Given the description of an element on the screen output the (x, y) to click on. 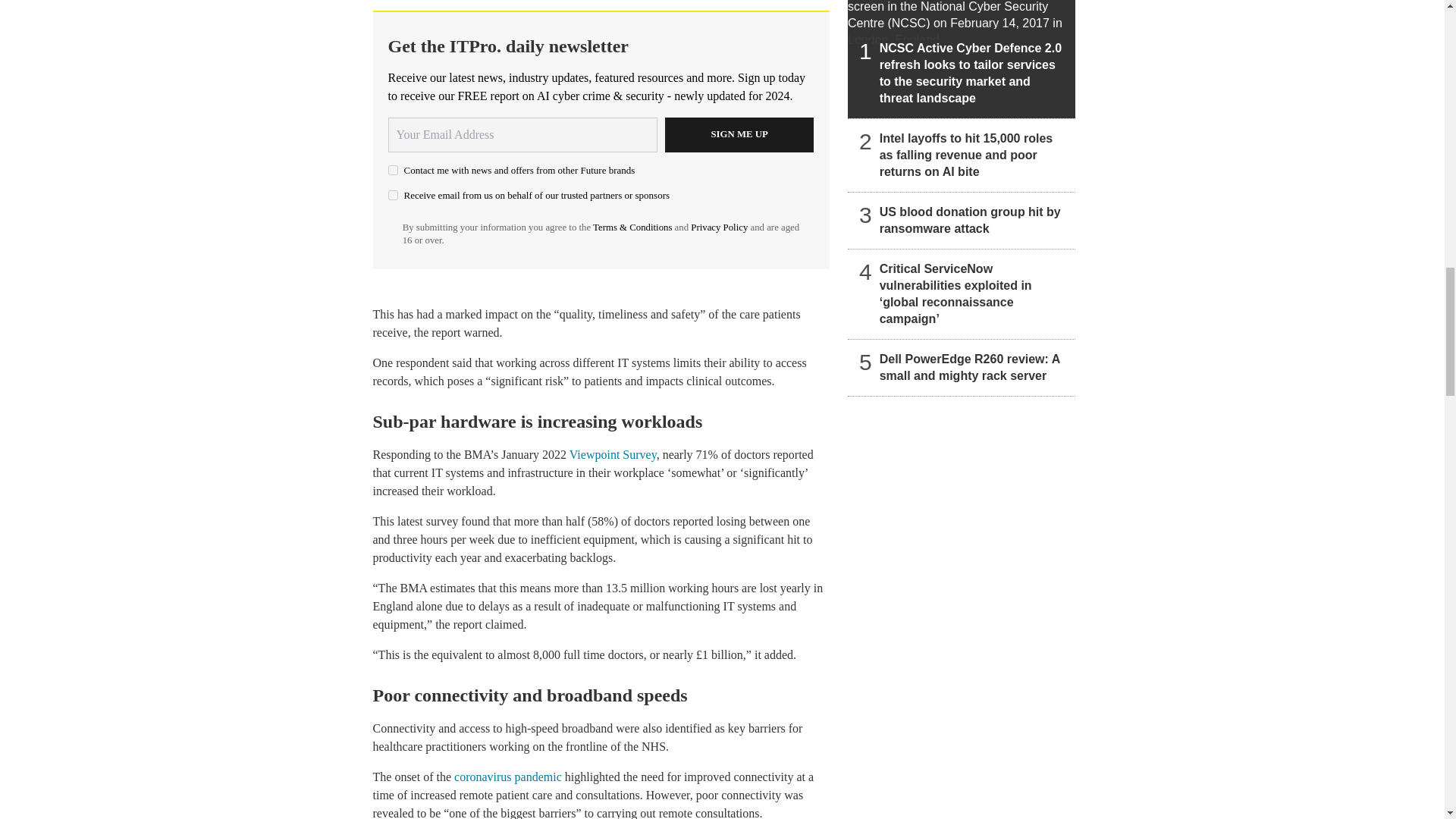
on (392, 170)
on (392, 194)
Sign me up (739, 134)
